Given the description of an element on the screen output the (x, y) to click on. 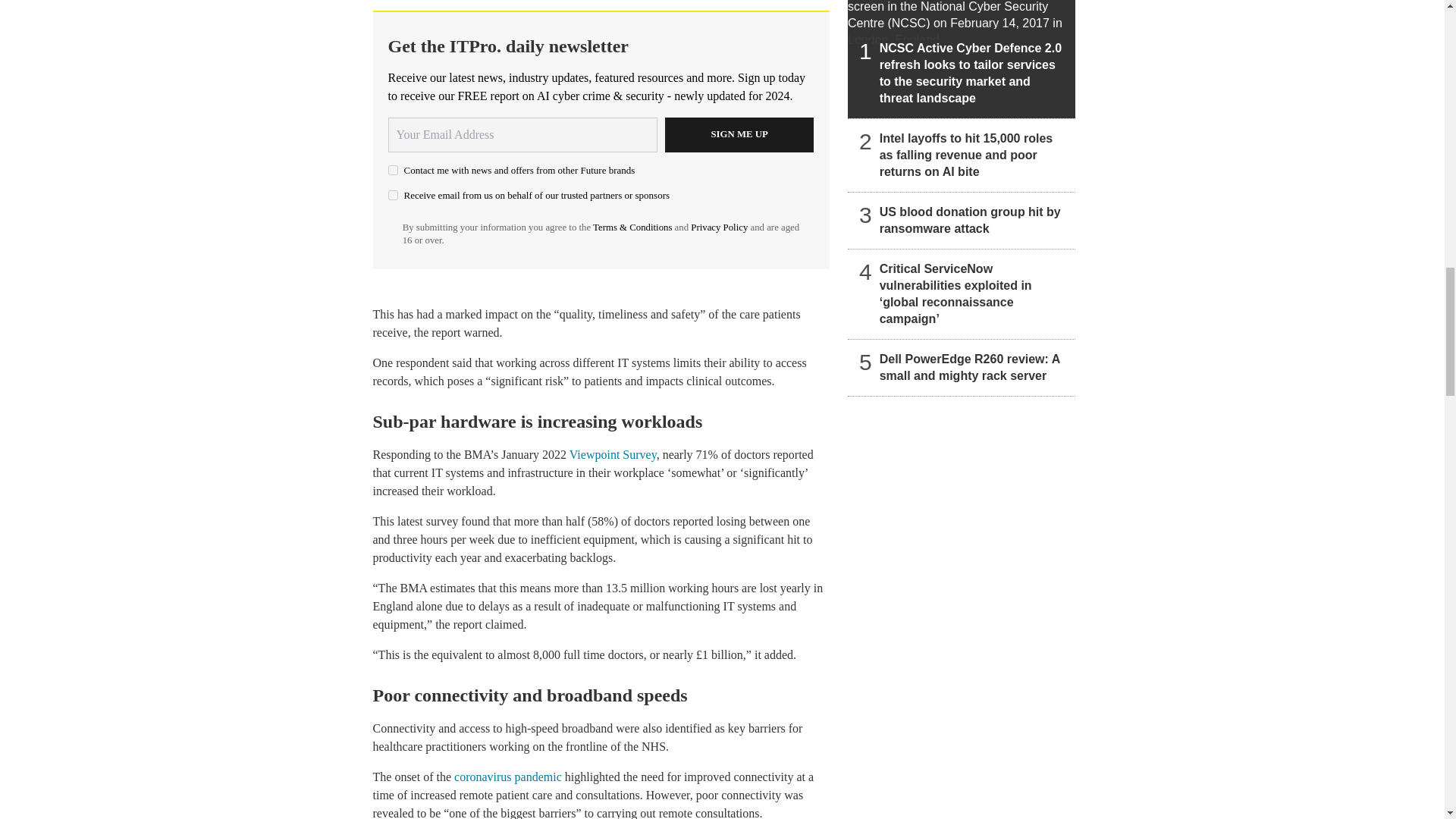
on (392, 170)
on (392, 194)
Sign me up (739, 134)
